Given the description of an element on the screen output the (x, y) to click on. 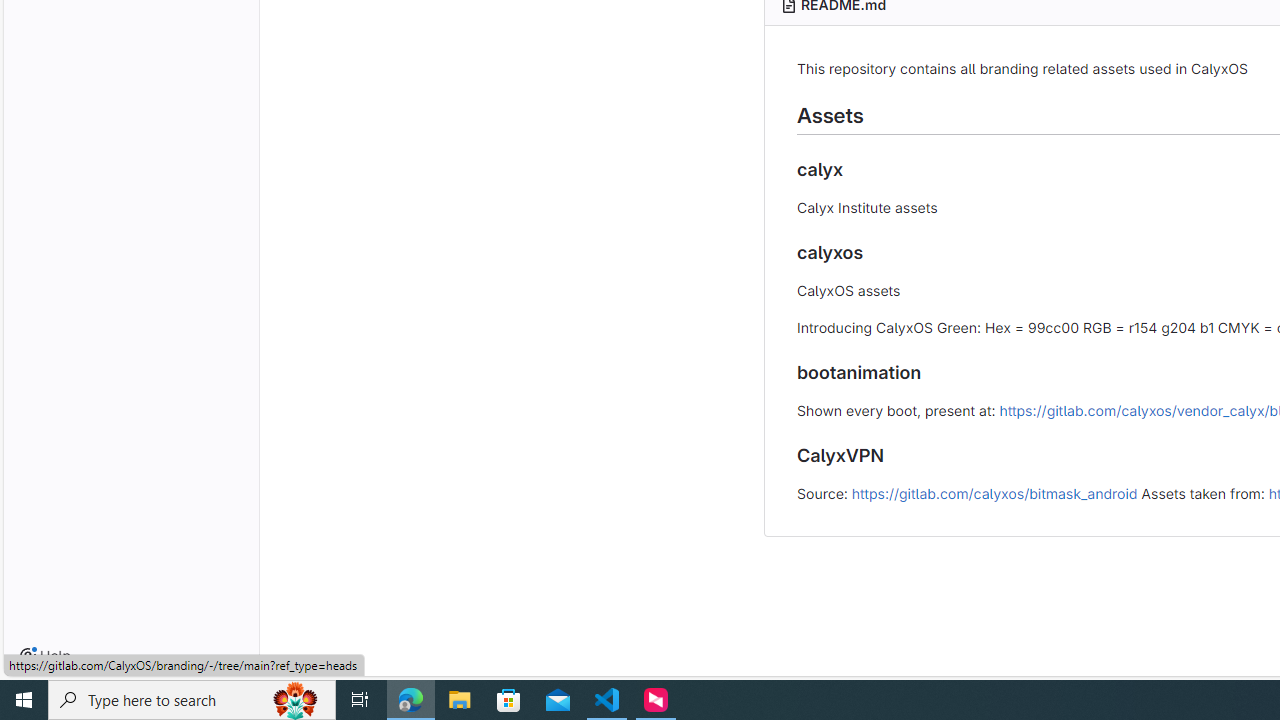
https://gitlab.com/calyxos/bitmask_android (994, 492)
